Given the description of an element on the screen output the (x, y) to click on. 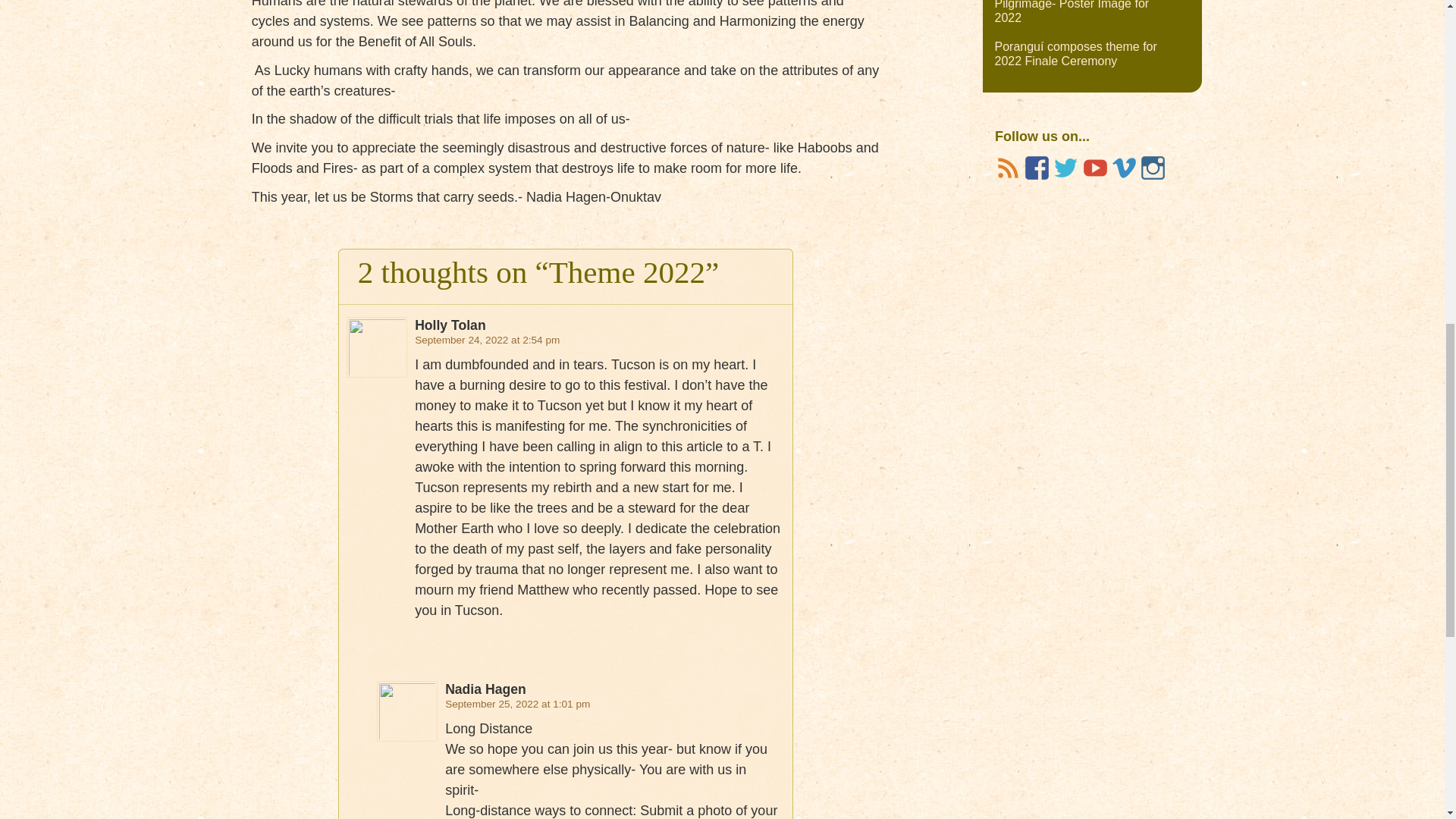
Instagram (1152, 168)
RSS Feed for entire site (1008, 168)
Facebook (1036, 168)
Twitter (1065, 168)
Vimeo (1123, 168)
YouTube (1094, 168)
September 24, 2022 at 2:54 pm (486, 339)
September 25, 2022 at 1:01 pm (517, 704)
